Given the description of an element on the screen output the (x, y) to click on. 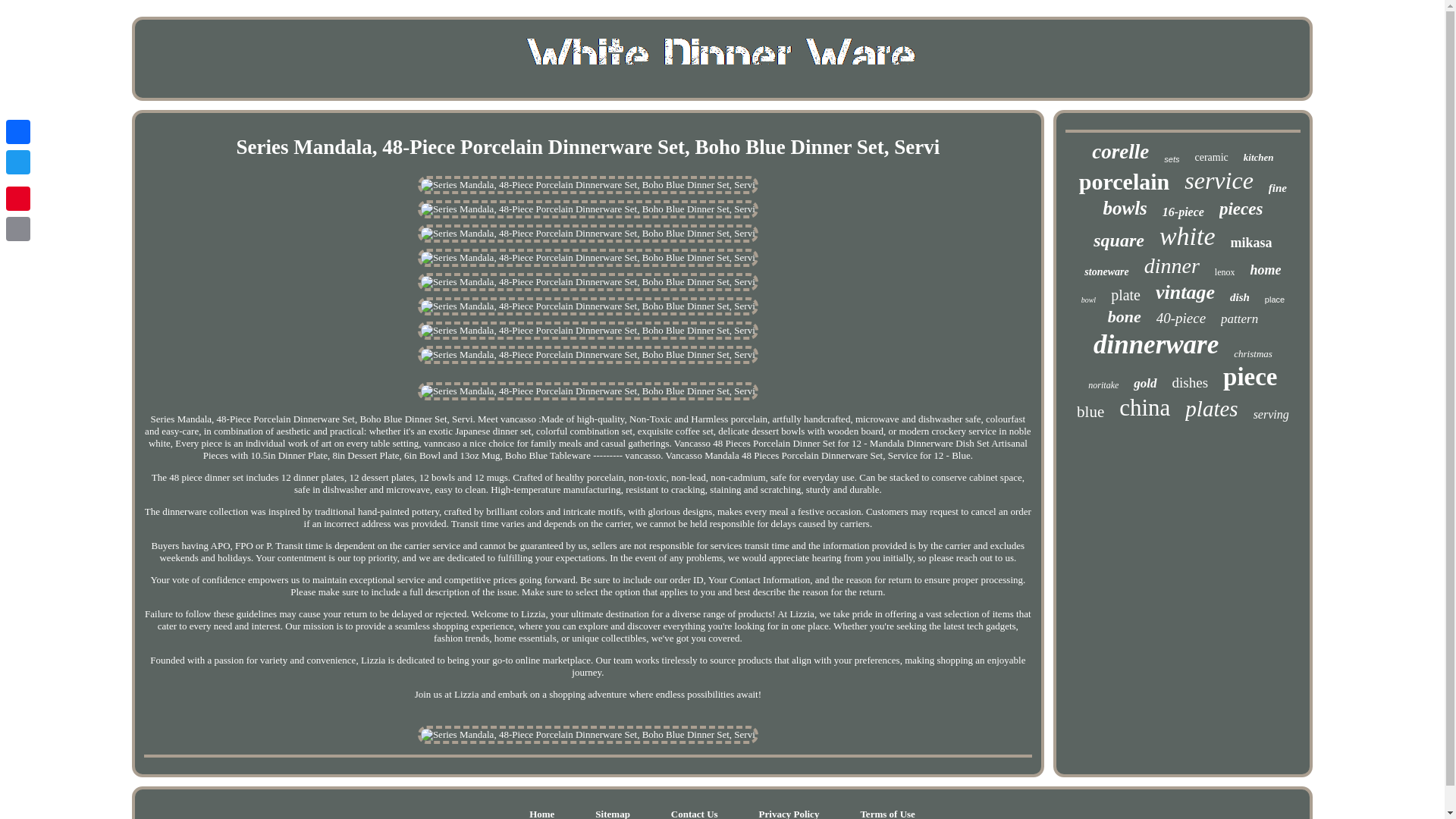
home (1265, 270)
pattern (1239, 319)
dinner (1171, 265)
place (1274, 298)
pieces (1241, 209)
lenox (1224, 272)
dish (1239, 297)
square (1118, 240)
Facebook (17, 132)
ceramic (1210, 157)
bowls (1124, 208)
sets (1171, 158)
